Given the description of an element on the screen output the (x, y) to click on. 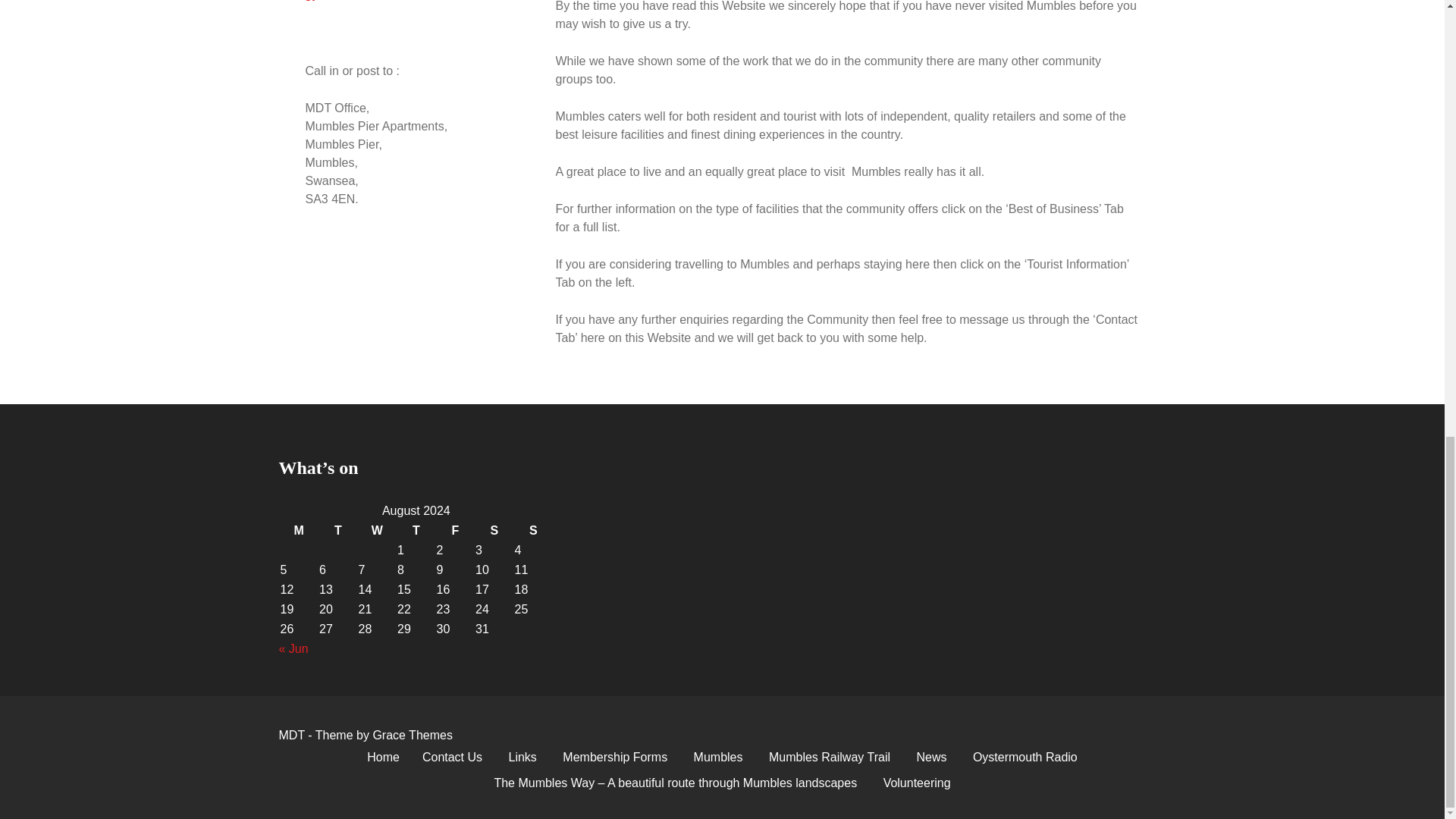
Mumbles (718, 757)
Sunday (534, 530)
Oystermouth Radio (1024, 757)
Saturday (494, 530)
Home (382, 757)
Tuesday (337, 530)
Volunteering (917, 783)
Thursday (416, 530)
Friday (455, 530)
Links (522, 757)
Mumbles Railway Trail (829, 757)
Wednesday (377, 530)
News (931, 757)
Contact Us (451, 757)
Membership Forms (614, 757)
